Given the description of an element on the screen output the (x, y) to click on. 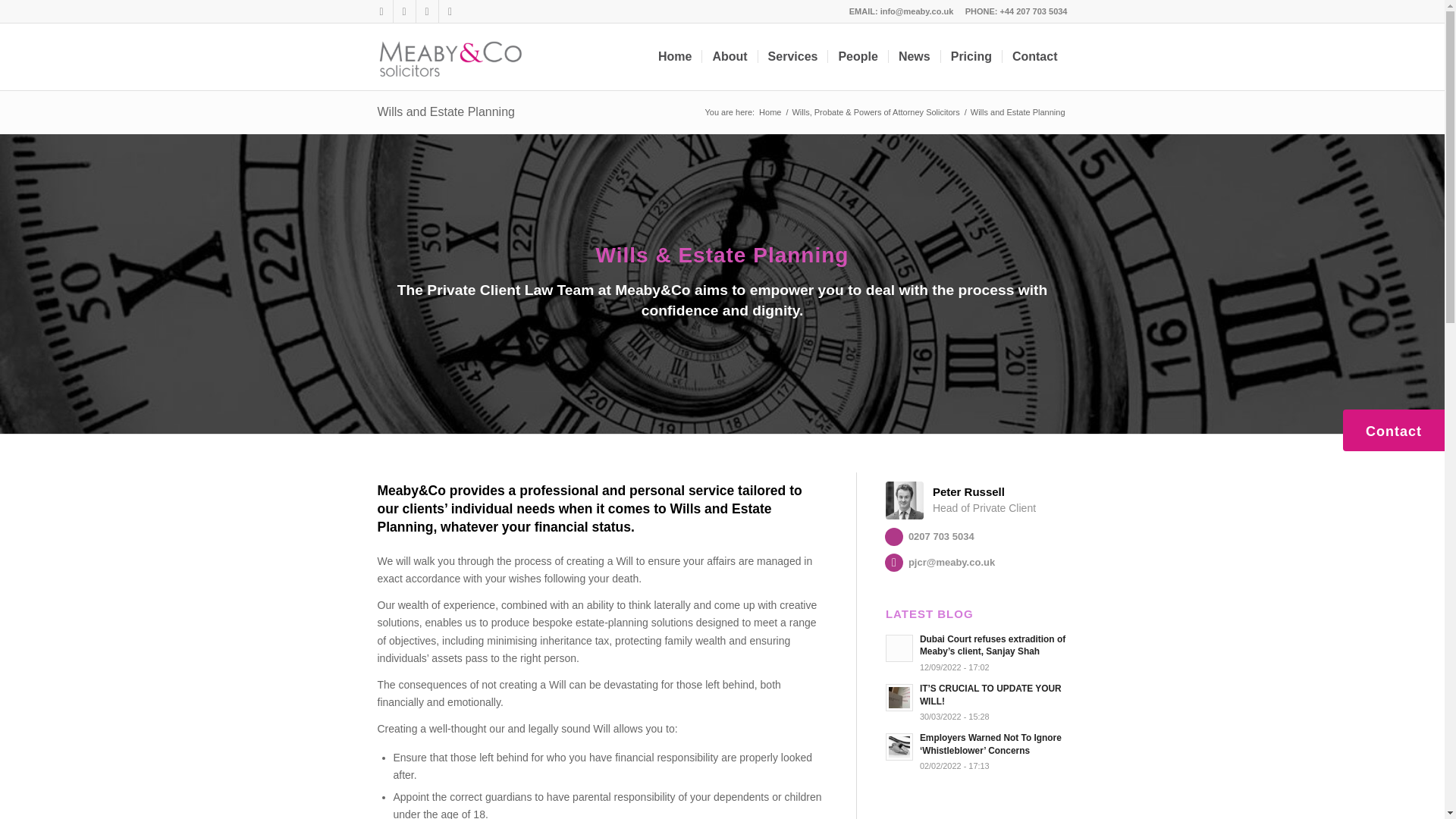
Mail (403, 11)
X (380, 11)
LinkedIn (426, 11)
0207 703 5034 (893, 536)
Contact (1034, 56)
Pricing (970, 56)
Services (792, 56)
Permanent Link: Wills and Estate Planning (446, 111)
People (856, 56)
Facebook (449, 11)
